Given the description of an element on the screen output the (x, y) to click on. 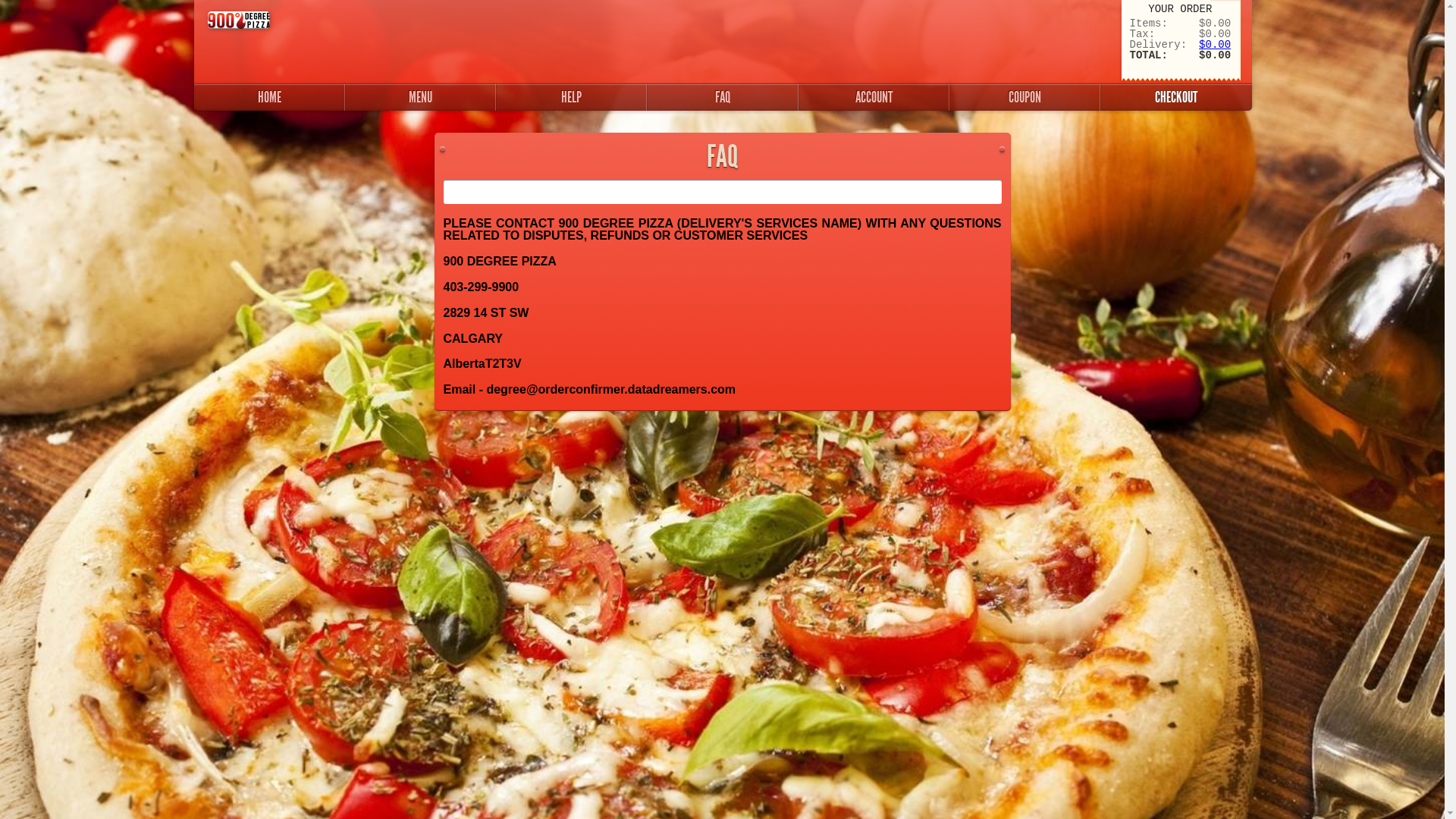
FAQ Element type: text (721, 97)
HELP Element type: text (570, 97)
MENU Element type: text (420, 97)
COUPON Element type: text (1024, 97)
HOME Element type: text (269, 97)
ACCOUNT Element type: text (873, 97)
CHECKOUT Element type: text (1175, 97)
$0.00 Element type: text (1214, 44)
